Given the description of an element on the screen output the (x, y) to click on. 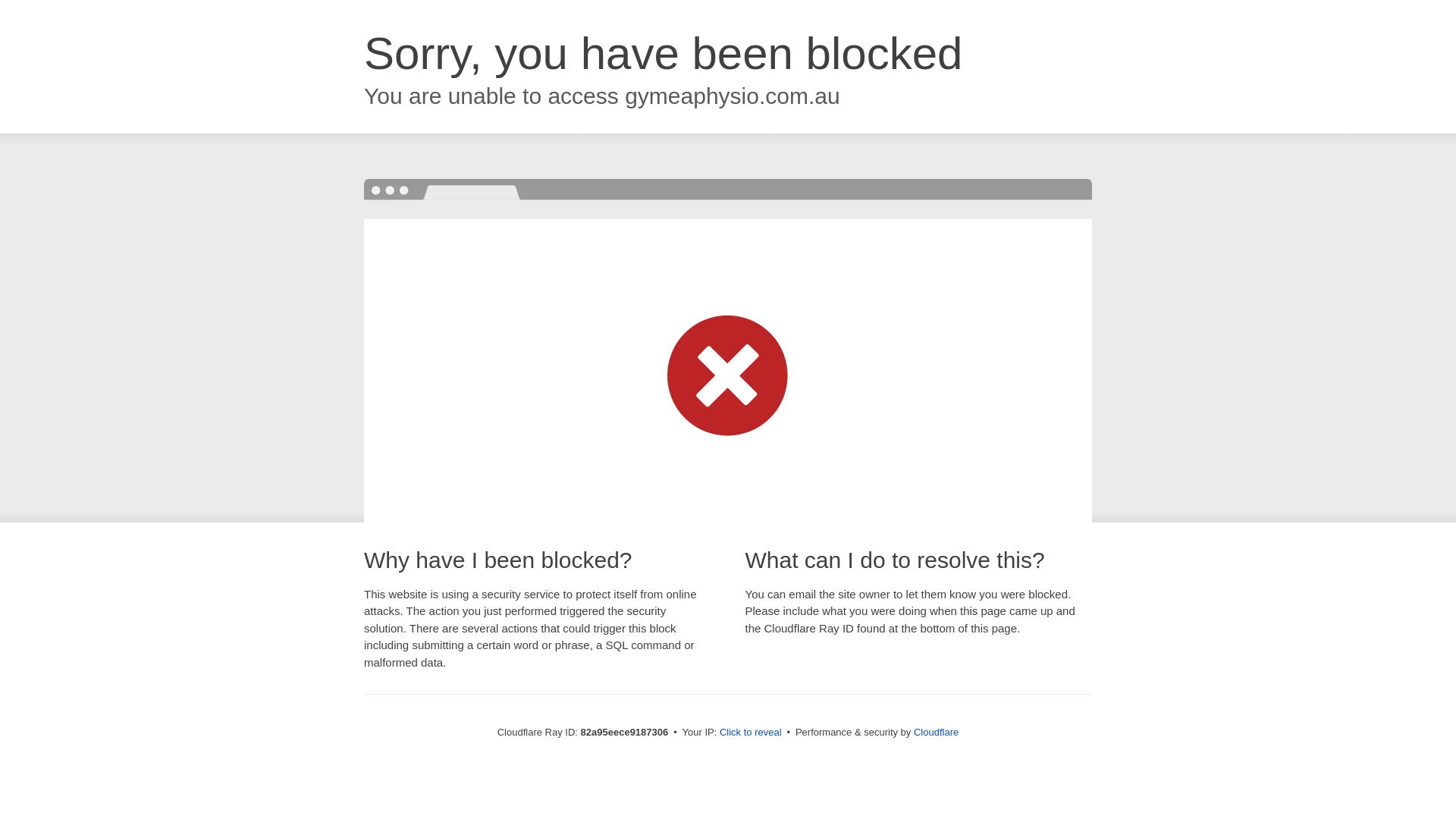
Cloudflare Element type: text (935, 731)
Click to reveal Element type: text (750, 732)
